Given the description of an element on the screen output the (x, y) to click on. 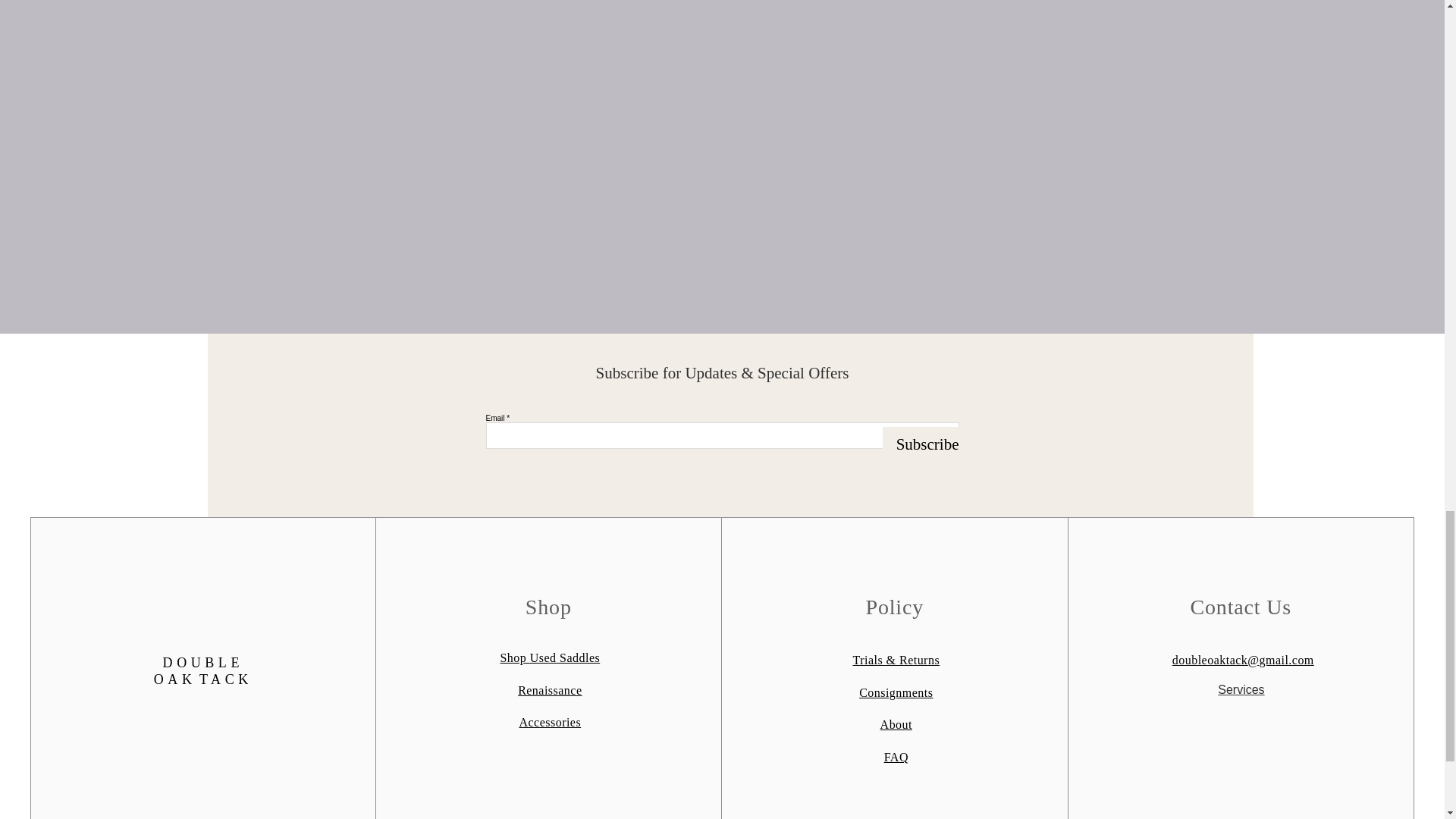
Shop Used Saddles (549, 657)
Accessories (549, 722)
Consignments (896, 693)
Services (1240, 689)
DOUBLE OAK (198, 671)
About (896, 725)
Renaissance (549, 690)
Subscribe (920, 444)
FAQ (895, 757)
